Given the description of an element on the screen output the (x, y) to click on. 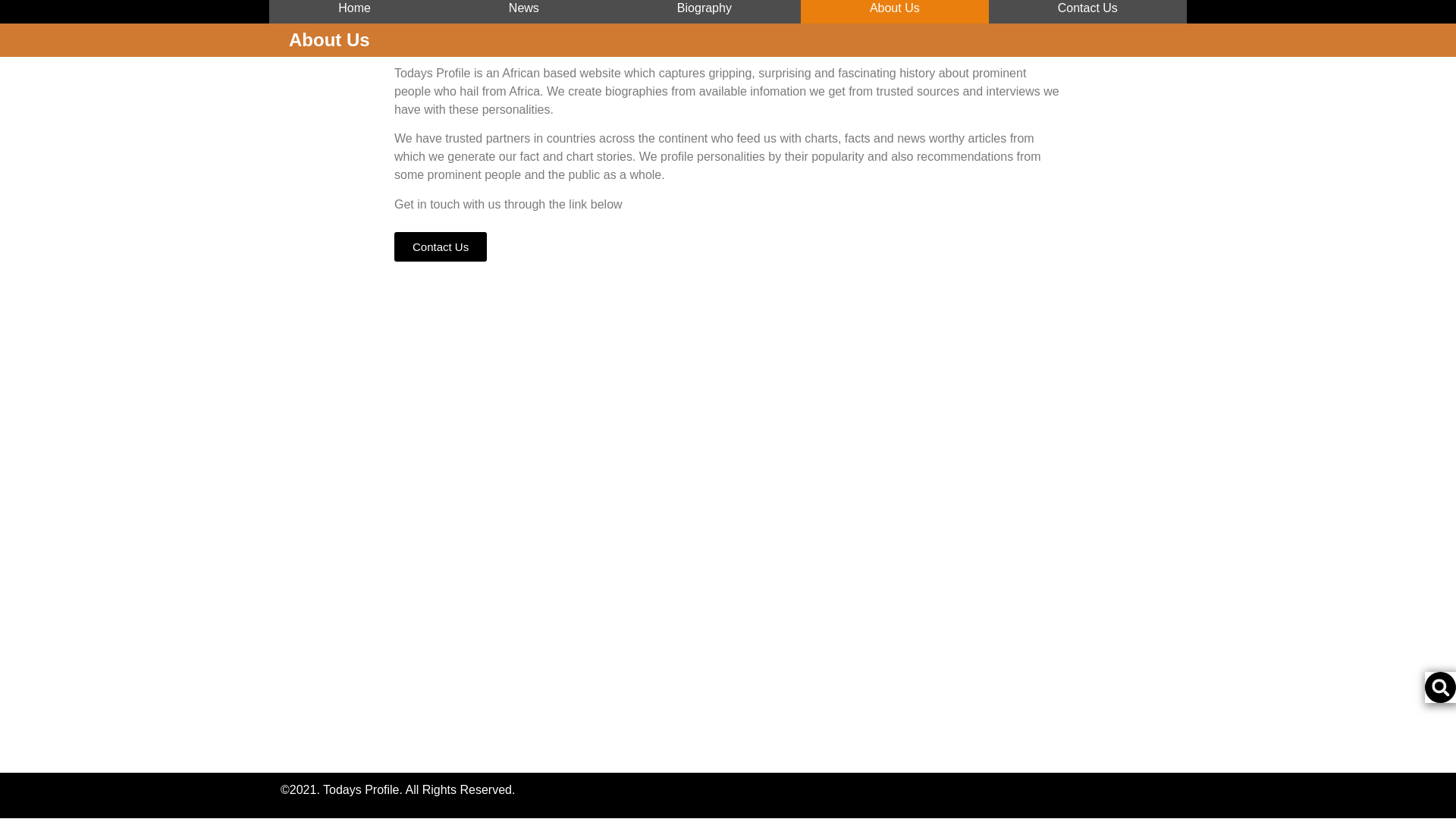
Biography (704, 11)
Contact Us (440, 246)
Home (354, 11)
About Us (894, 11)
News (523, 11)
Contact Us (1087, 11)
